Given the description of an element on the screen output the (x, y) to click on. 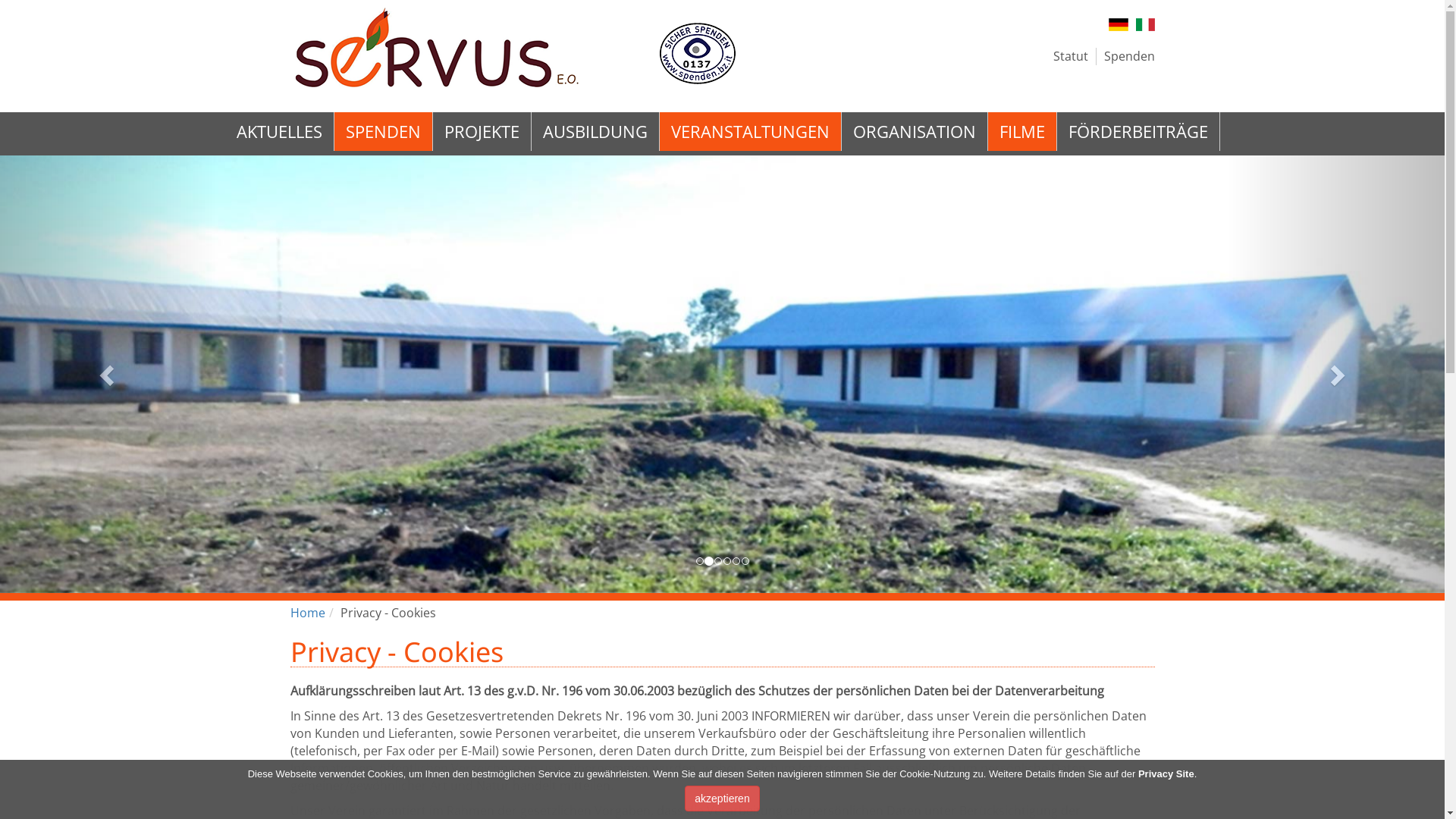
Previous Element type: text (108, 374)
Statut Element type: text (1069, 55)
Spenden Element type: text (1129, 55)
AKTUELLES Element type: text (278, 131)
ORGANISATION Element type: text (914, 131)
Next Element type: text (1335, 374)
SPENDEN Element type: text (382, 131)
Home Element type: text (306, 612)
VERANSTALTUNGEN Element type: text (749, 131)
akzeptieren Element type: text (721, 798)
AUSBILDUNG Element type: text (594, 131)
Privacy Site Element type: text (1166, 773)
FILME Element type: text (1021, 131)
PROJEKTE Element type: text (481, 131)
